Given the description of an element on the screen output the (x, y) to click on. 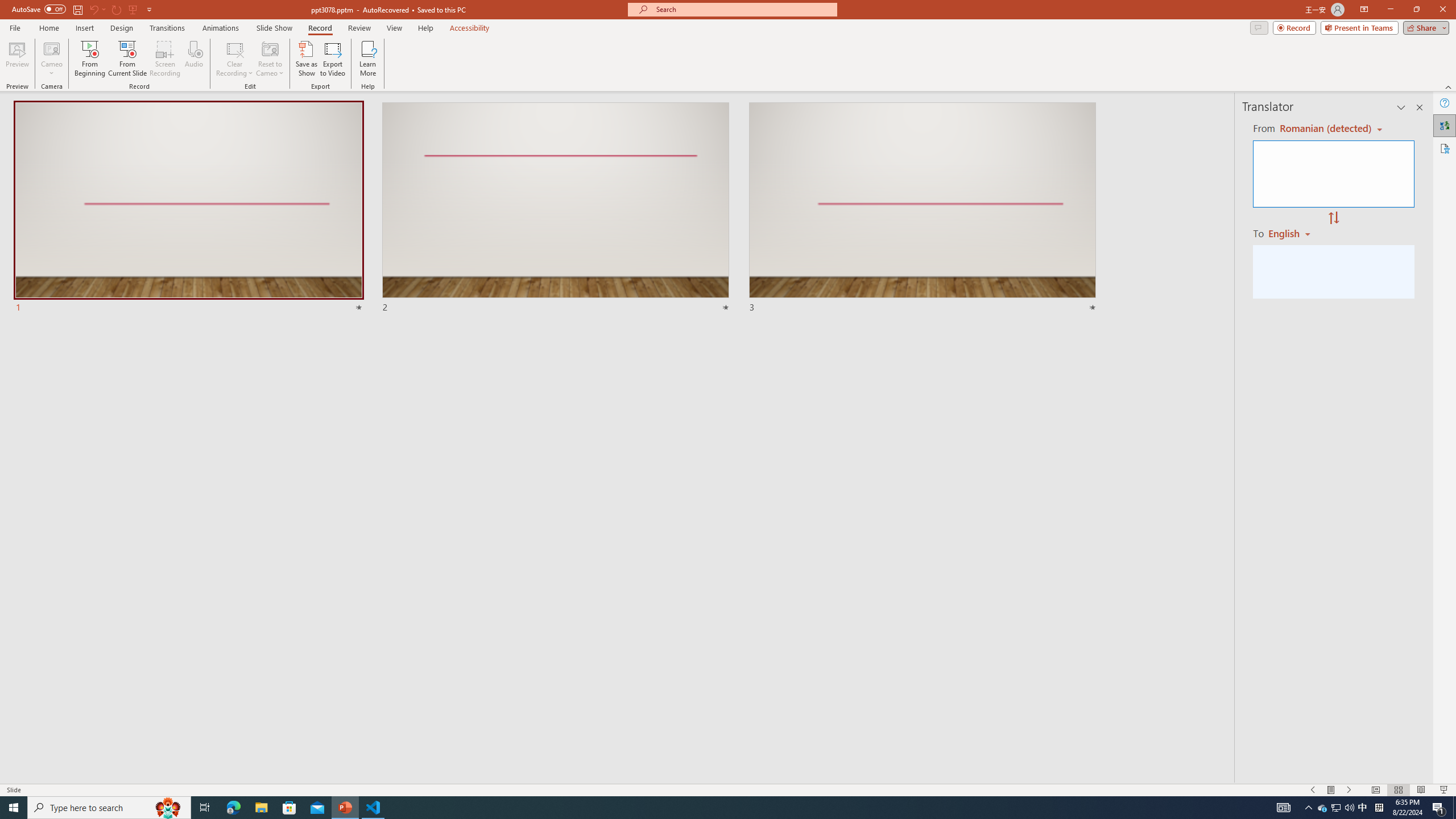
Menu On (1331, 790)
